Given the description of an element on the screen output the (x, y) to click on. 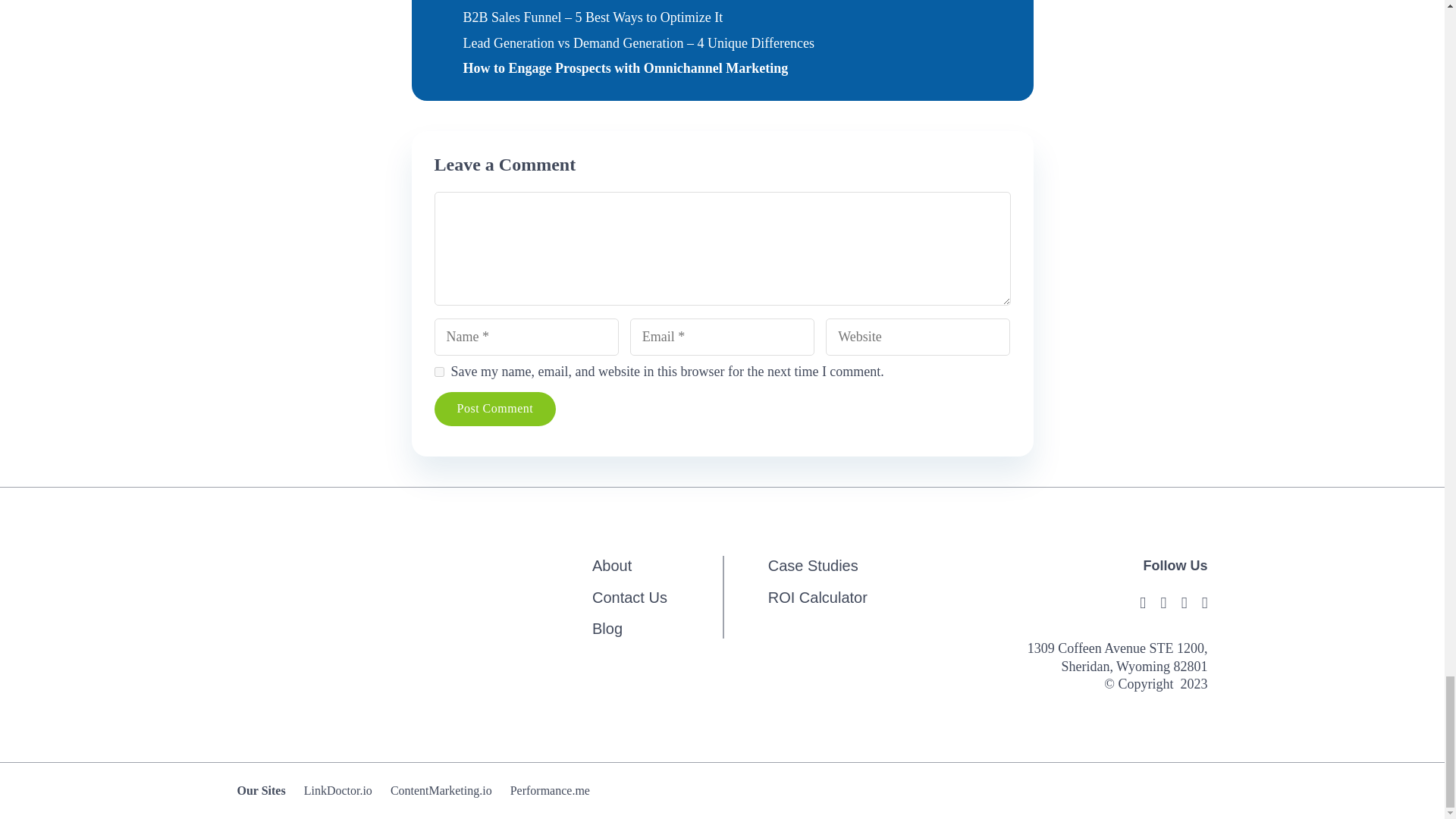
Post Comment (494, 408)
yes (438, 371)
